Given the description of an element on the screen output the (x, y) to click on. 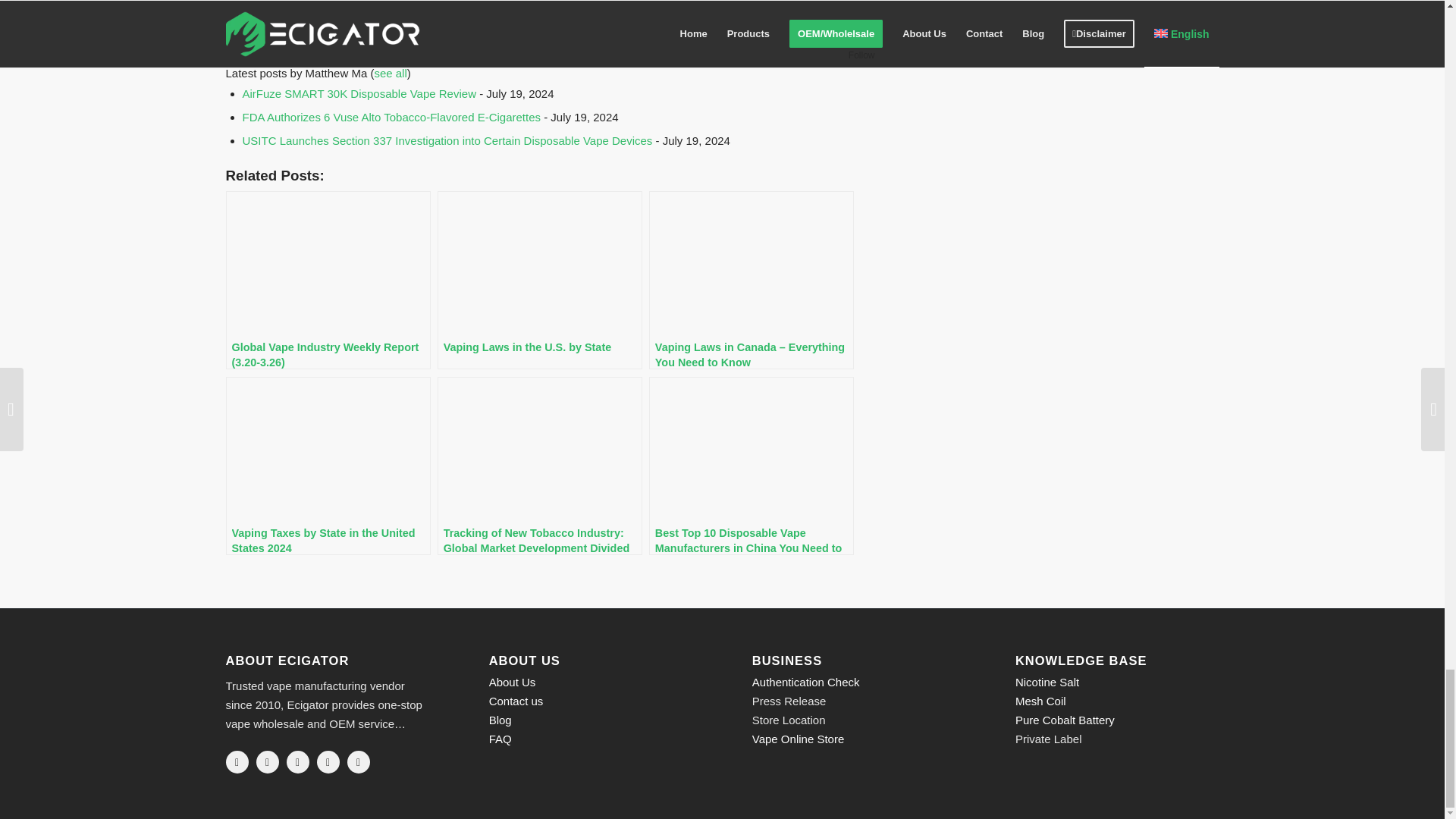
FDA Authorizes 6 Vuse Alto Tobacco-Flavored E-Cigarettes (392, 116)
Vaping Laws in the U.S. by State (540, 279)
AirFuze SMART 30K Disposable Vape Review (359, 92)
Matthew Ma (319, 37)
Vaping Taxes by State in the United States 2024 (327, 465)
see all (390, 72)
Vaping Laws in the U.S. by State (540, 279)
